Given the description of an element on the screen output the (x, y) to click on. 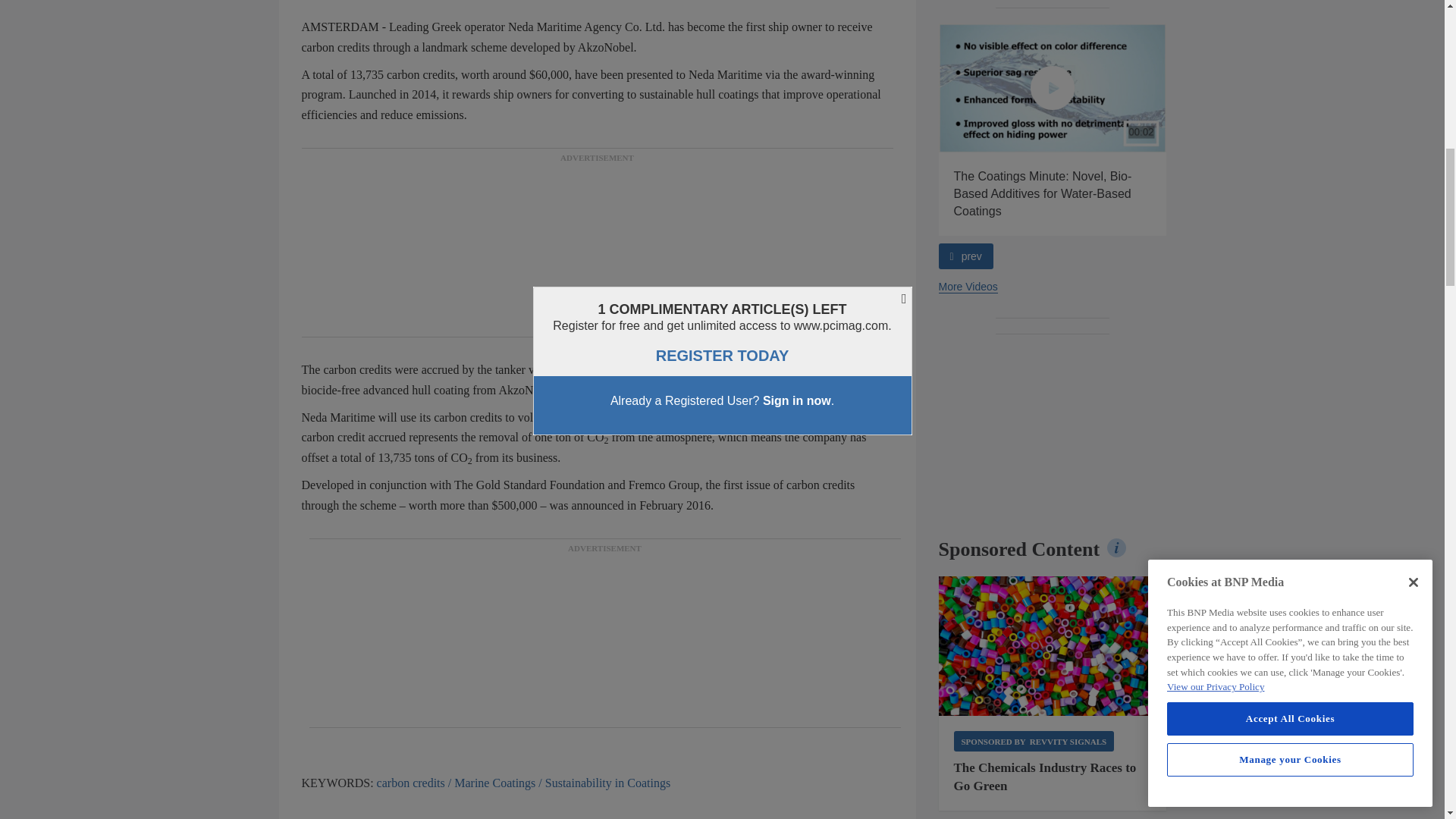
Sponsored by Revvity Signals (1034, 741)
Spec-Chemical-Img-900.png (1052, 645)
